Given the description of an element on the screen output the (x, y) to click on. 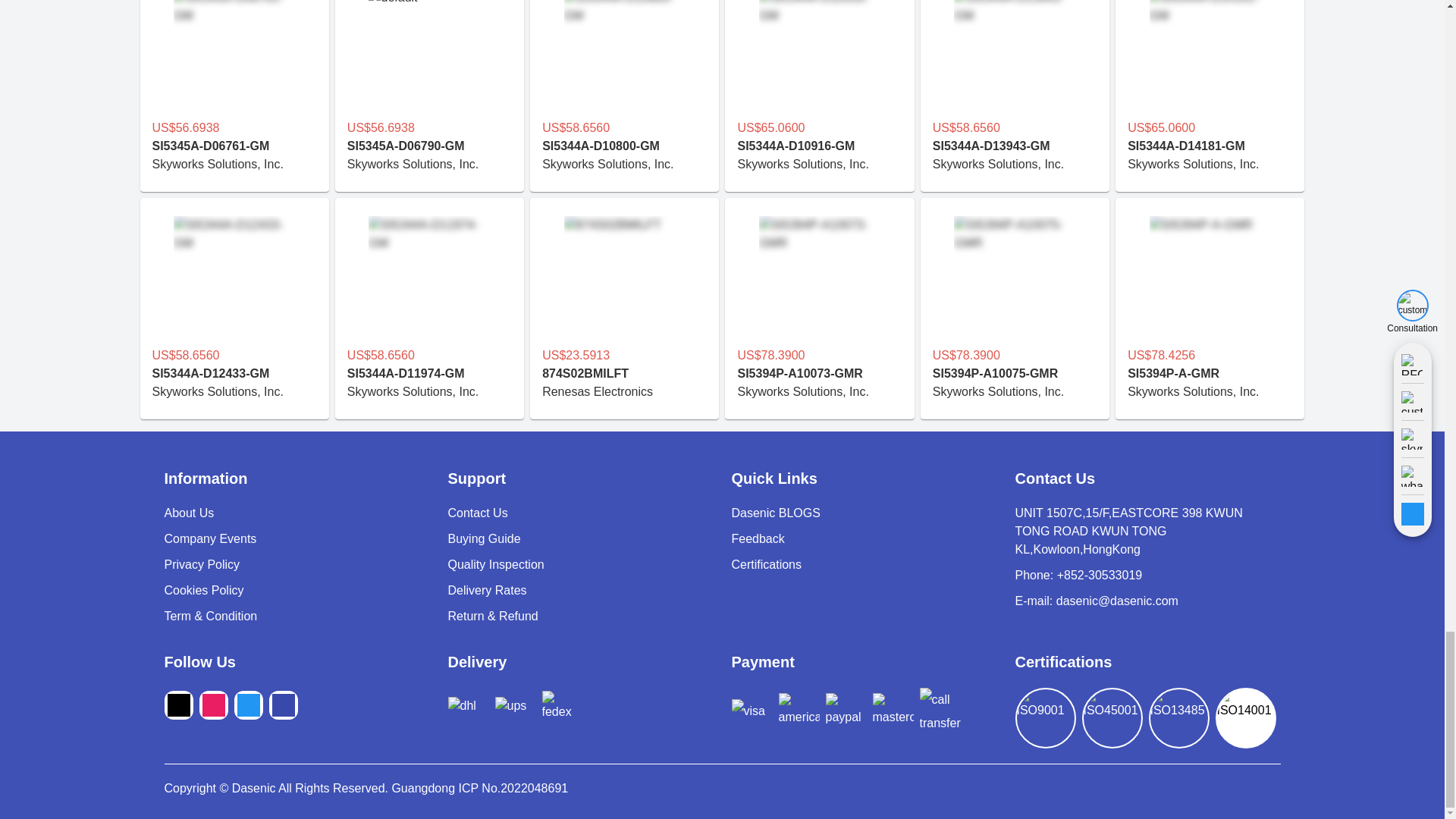
Skyworks Solutions, Inc. (818, 164)
Skyworks Solutions, Inc. (1015, 164)
Skyworks Solutions, Inc. (623, 164)
Skyworks Solutions, Inc. (429, 164)
Skyworks Solutions, Inc. (233, 164)
Skyworks Solutions, Inc. (1209, 164)
